Given the description of an element on the screen output the (x, y) to click on. 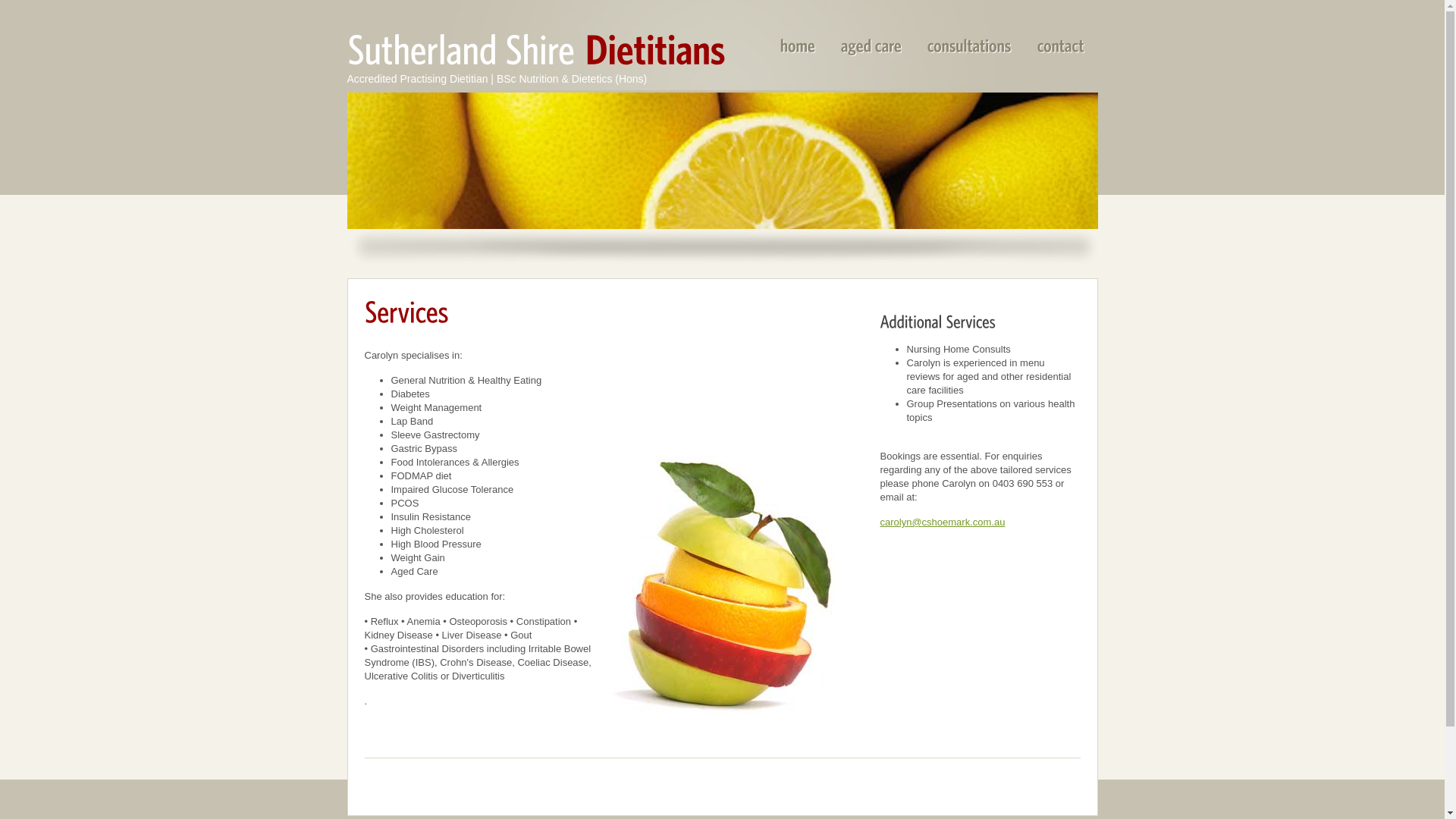
carolyn@cshoemark.com.au Element type: text (941, 521)
